Given the description of an element on the screen output the (x, y) to click on. 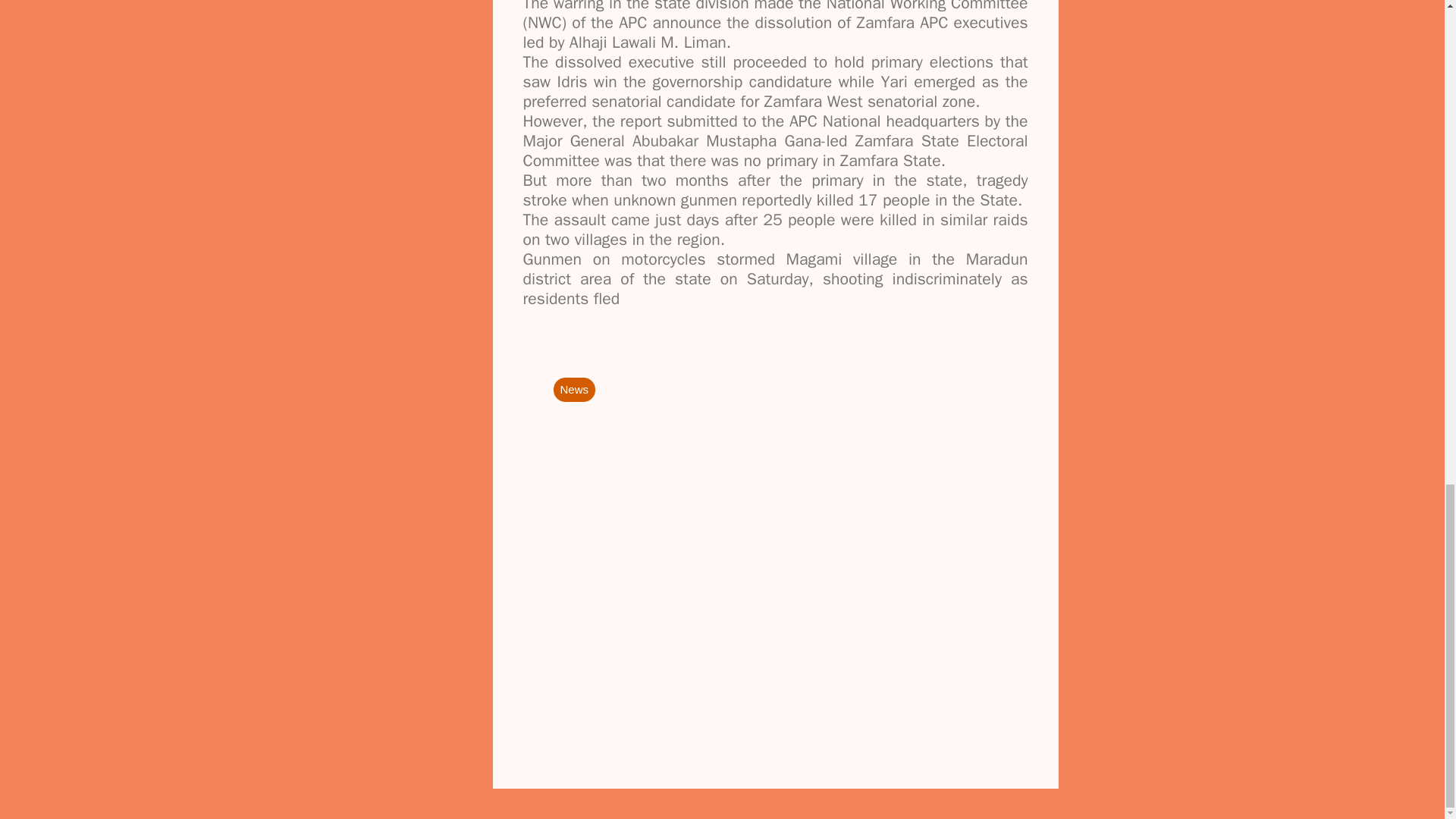
News (574, 388)
